Given the description of an element on the screen output the (x, y) to click on. 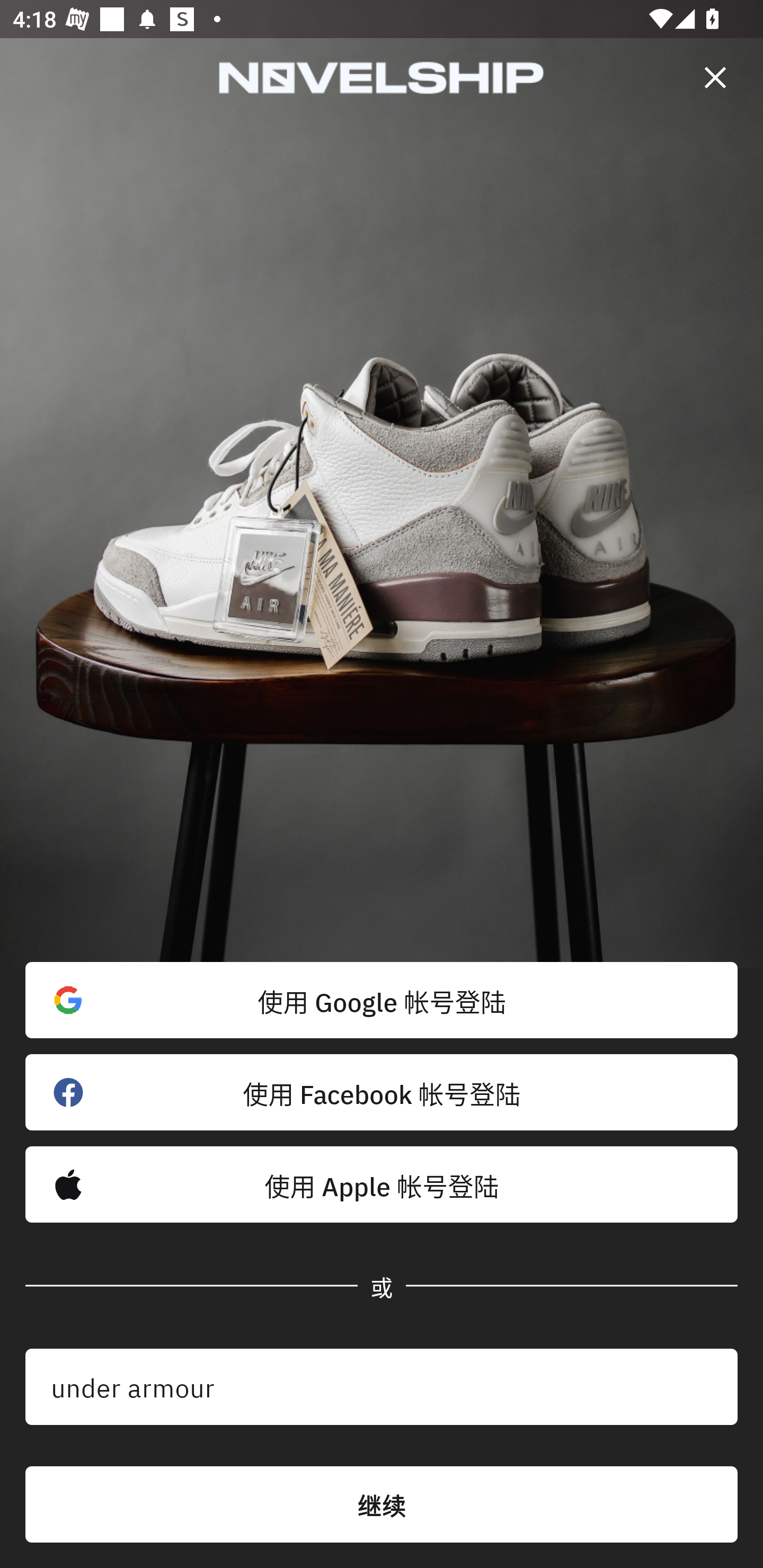
使用 Google 帐号登陆 (381, 1000)
使用 Facebook 帐号登陆 󰈌 (381, 1091)
 使用 Apple 帐号登陆 (381, 1184)
under armour (381, 1386)
继续 (381, 1504)
